Given the description of an element on the screen output the (x, y) to click on. 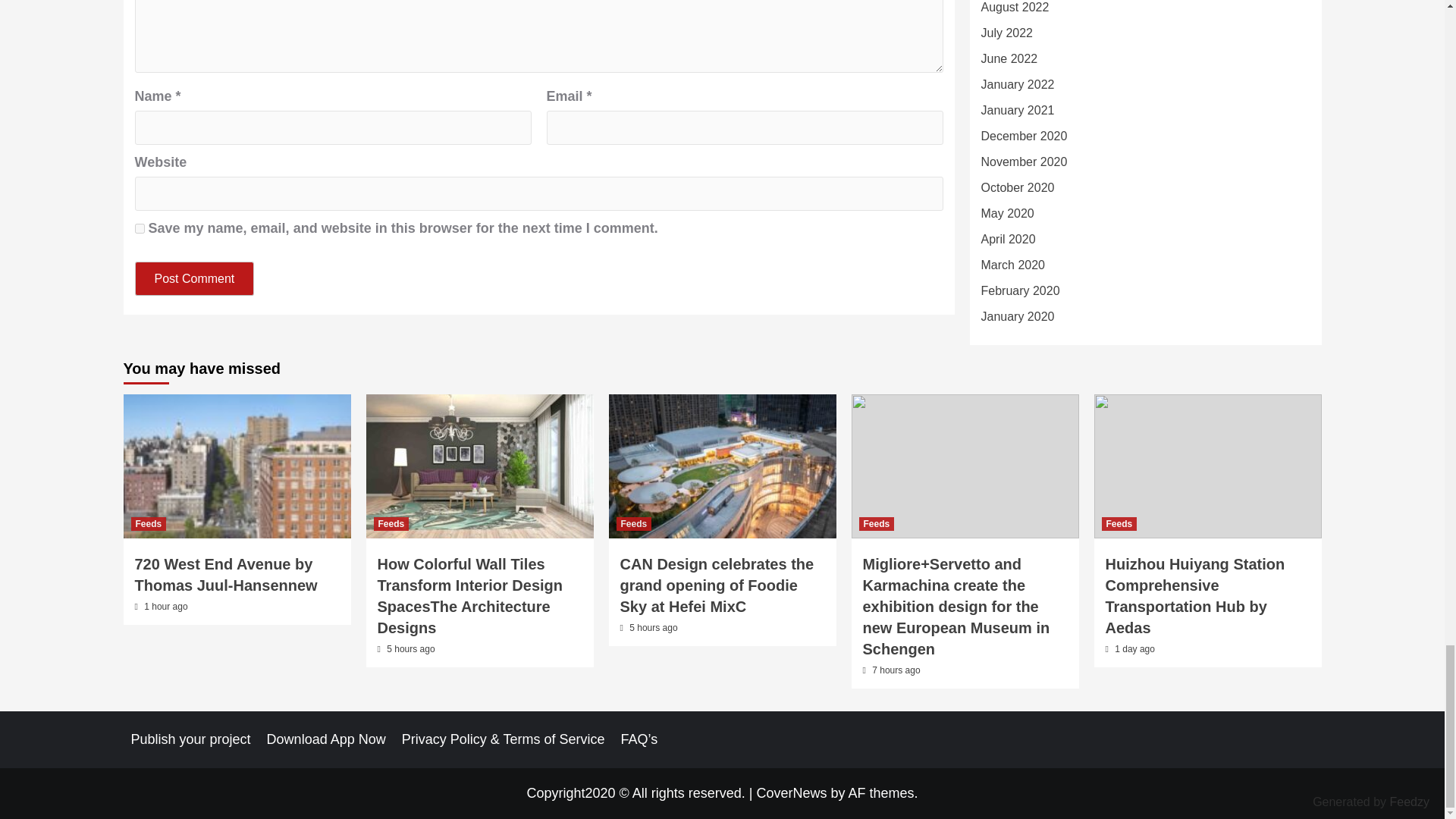
yes (139, 228)
Post Comment (194, 278)
